Given the description of an element on the screen output the (x, y) to click on. 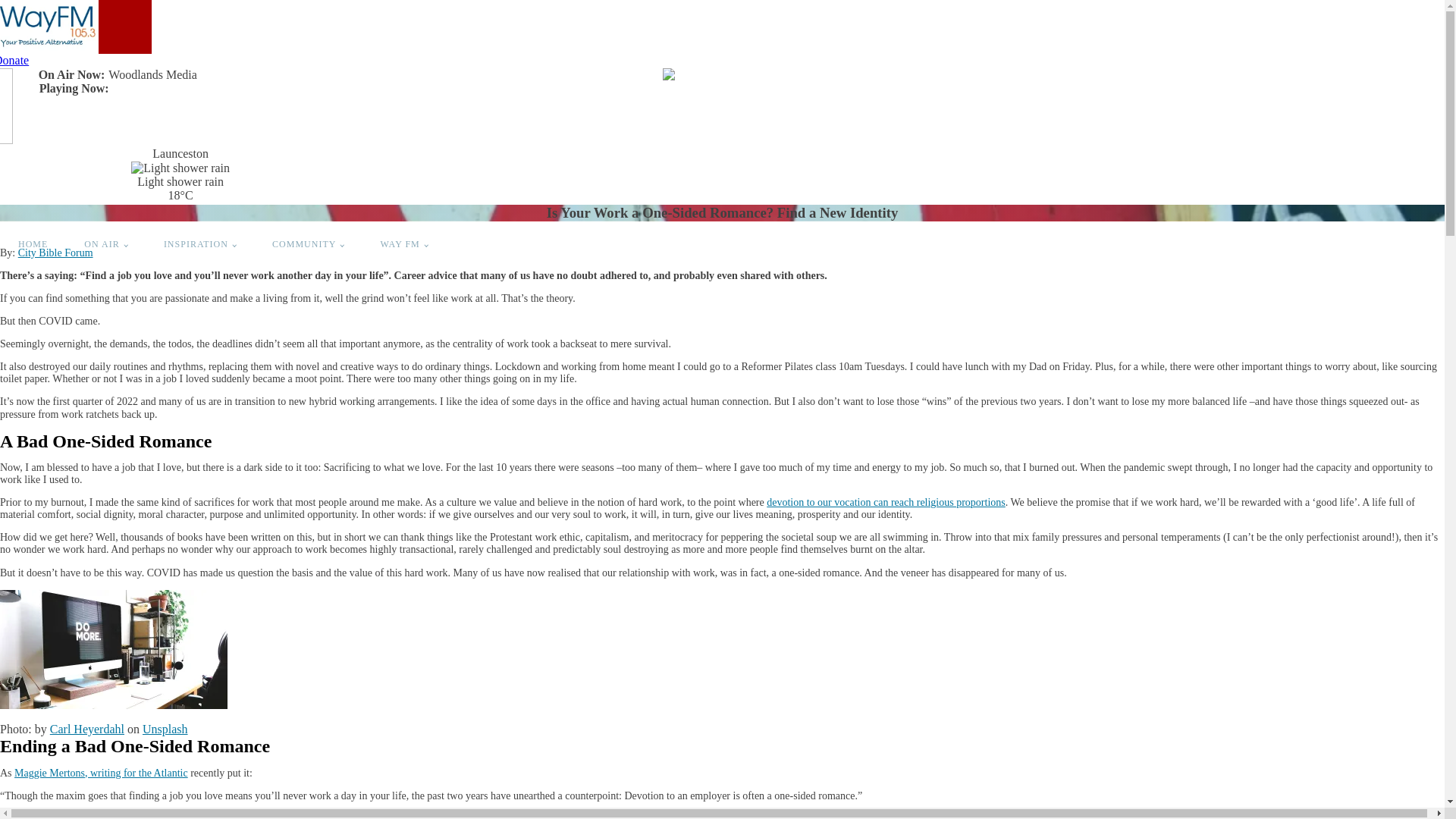
Unsplash Element type: text (165, 728)
City Bible Forum Element type: text (55, 252)
ON AIR Element type: text (105, 244)
WAY FM Element type: text (403, 244)
HOME Element type: text (32, 244)
Maggie Mertons, writing for the Atlantic Element type: text (101, 772)
Carl Heyerdahl Element type: text (87, 728)
devotion to our vocation can reach religious proportions Element type: text (885, 502)
INSPIRATION Element type: text (199, 244)
COMMUNITY Element type: text (308, 244)
